Given the description of an element on the screen output the (x, y) to click on. 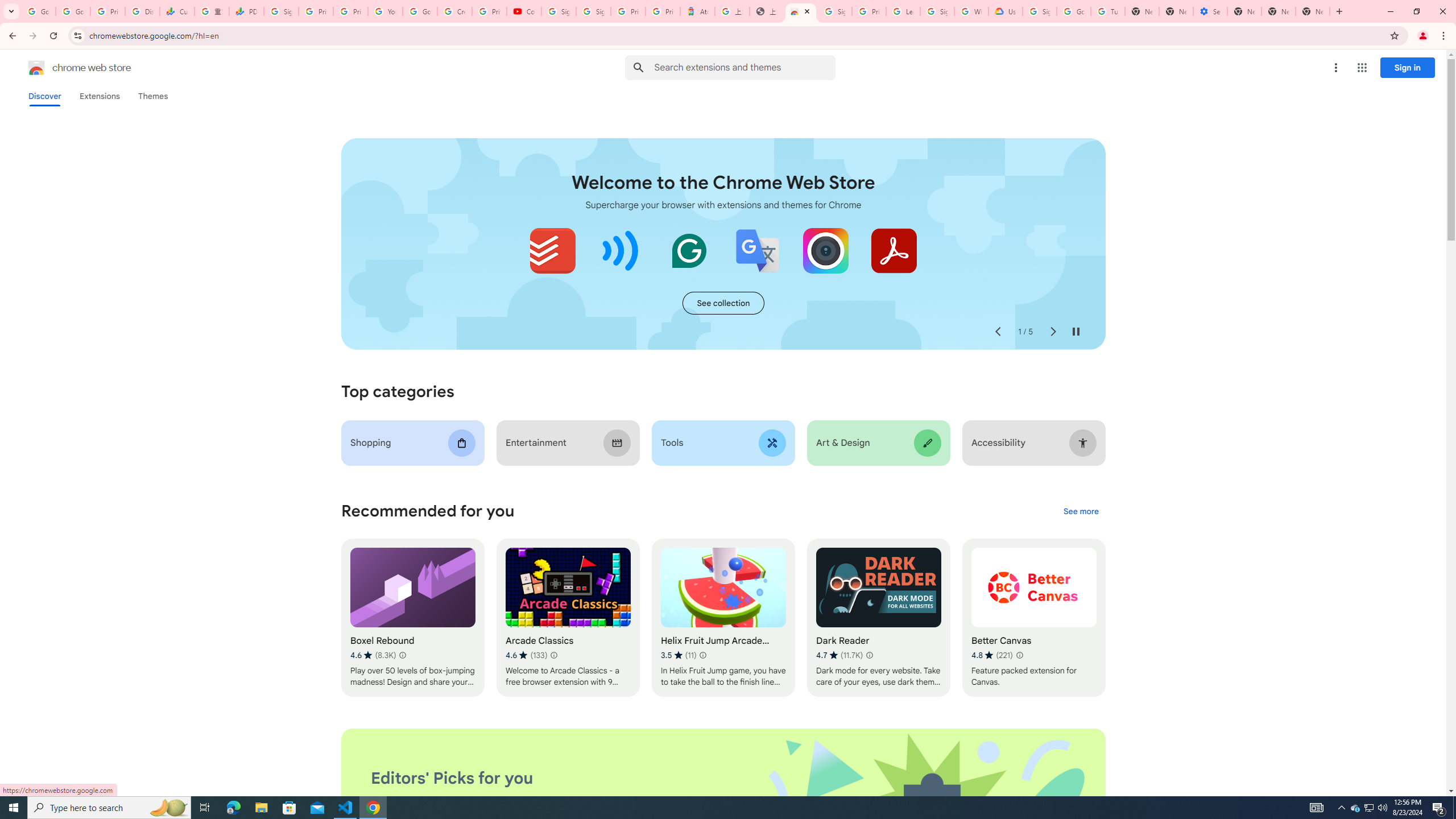
Average rating 3.5 out of 5 stars. 11 ratings. (679, 655)
Average rating 4.8 out of 5 stars. 221 ratings. (992, 655)
New Tab (1312, 11)
Helix Fruit Jump Arcade Game (722, 617)
More options menu (1335, 67)
PDD Holdings Inc - ADR (PDD) Price & News - Google Finance (246, 11)
Settings - Addresses and more (1209, 11)
Sign in - Google Accounts (281, 11)
Average rating 4.6 out of 5 stars. 8.3K ratings. (372, 655)
Who are Google's partners? - Privacy and conditions - Google (970, 11)
